Given the description of an element on the screen output the (x, y) to click on. 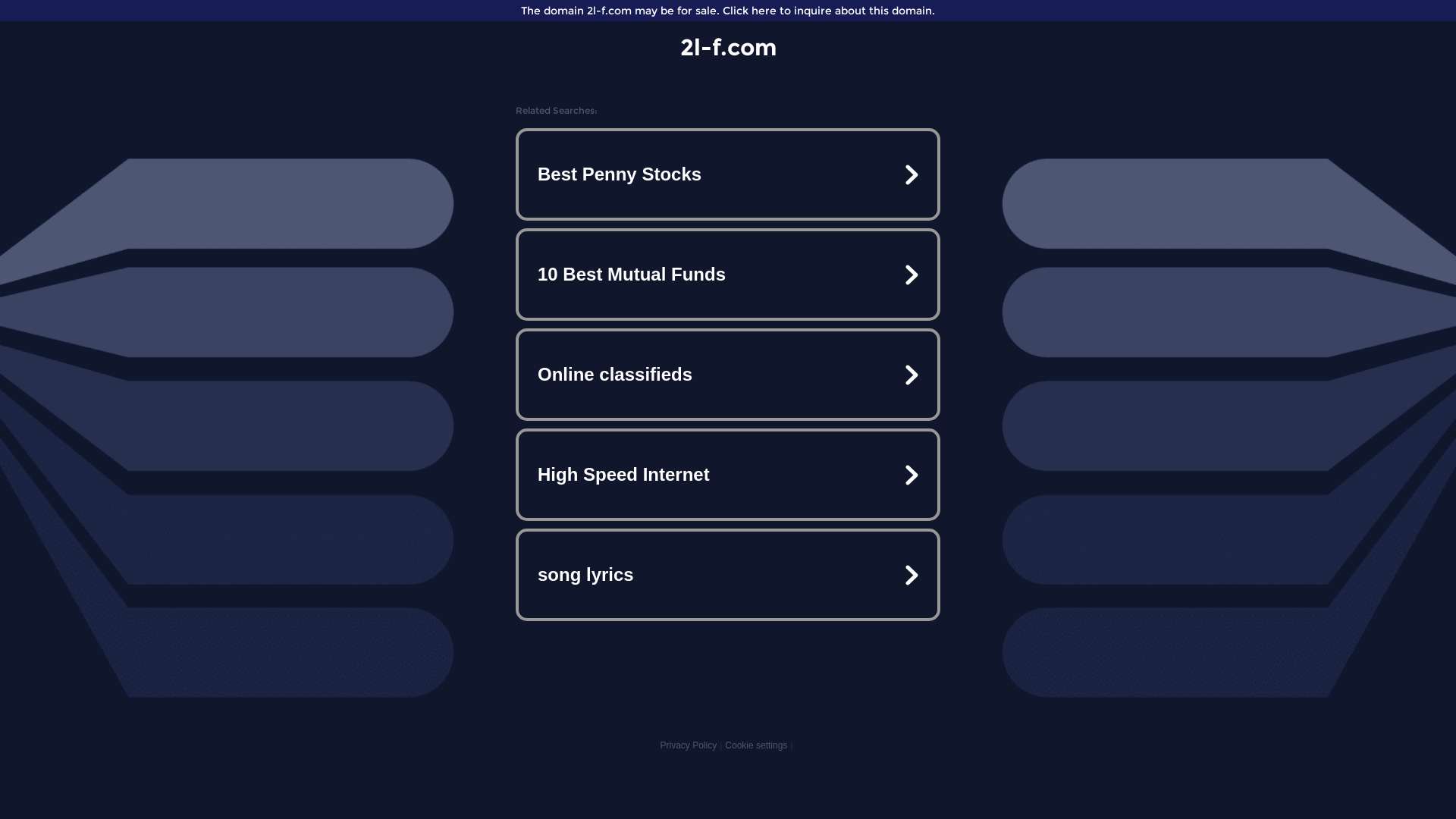
song lyrics Element type: text (727, 574)
Best Penny Stocks Element type: text (727, 174)
Online classifieds Element type: text (727, 374)
High Speed Internet Element type: text (727, 474)
2l-f.com Element type: text (727, 47)
Cookie settings Element type: text (755, 745)
Privacy Policy Element type: text (687, 745)
10 Best Mutual Funds Element type: text (727, 274)
